Given the description of an element on the screen output the (x, y) to click on. 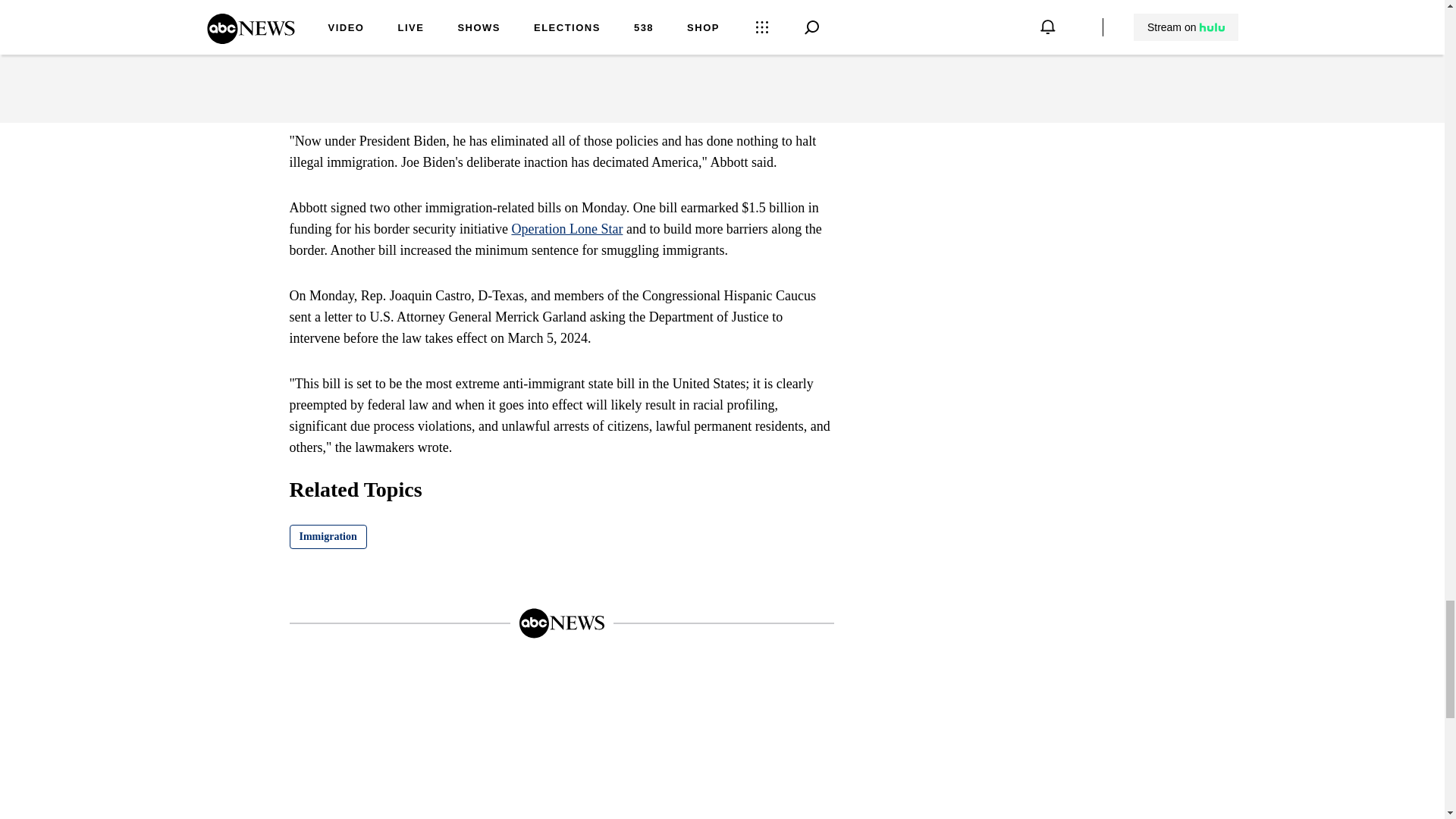
Operation Lone Star (567, 228)
Immigration (327, 536)
